Given the description of an element on the screen output the (x, y) to click on. 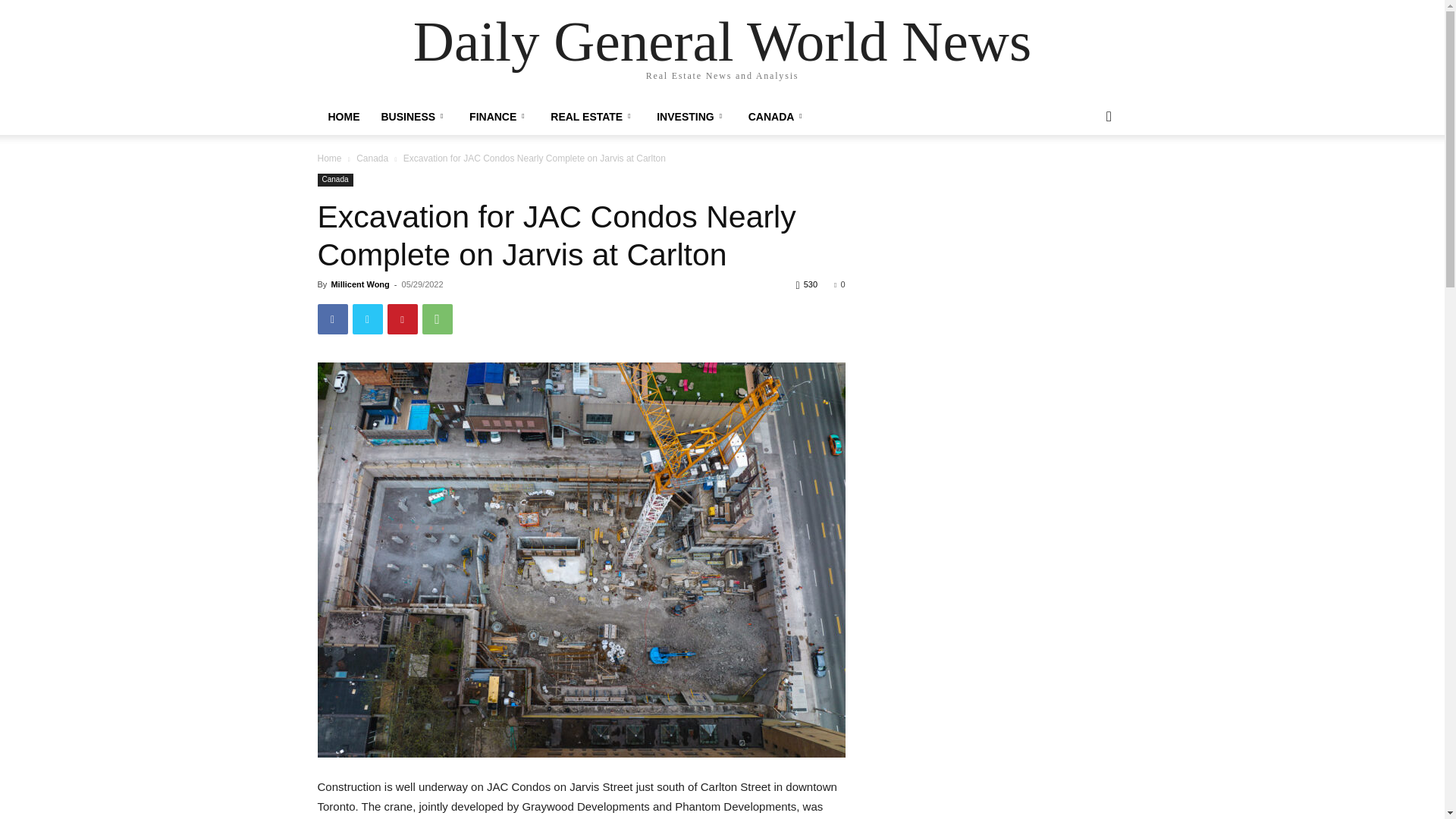
HOME (343, 116)
Daily General World News (721, 41)
REAL ESTATE (593, 116)
FINANCE (499, 116)
BUSINESS (413, 116)
